Given the description of an element on the screen output the (x, y) to click on. 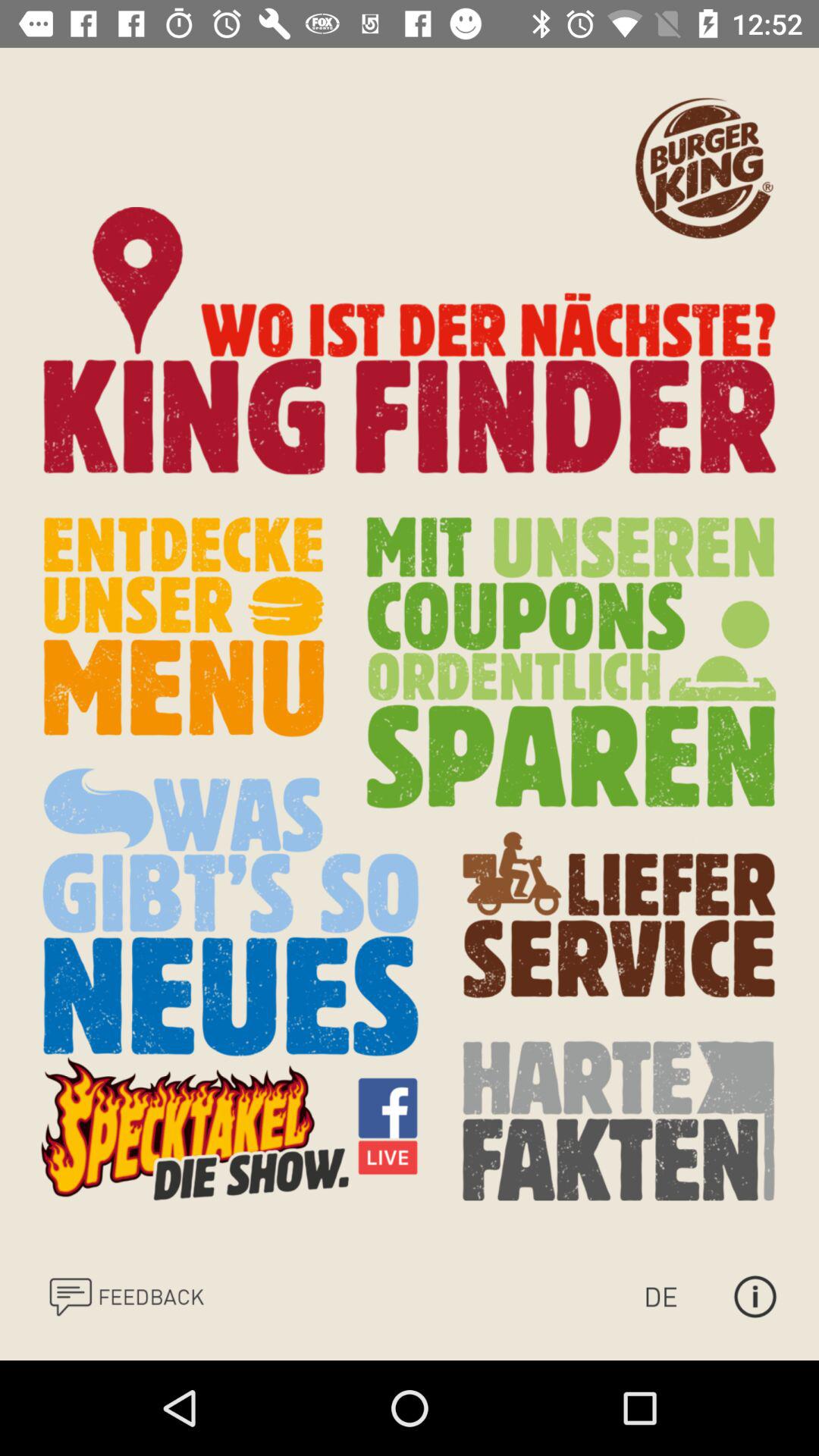
press information icon (755, 1296)
